Given the description of an element on the screen output the (x, y) to click on. 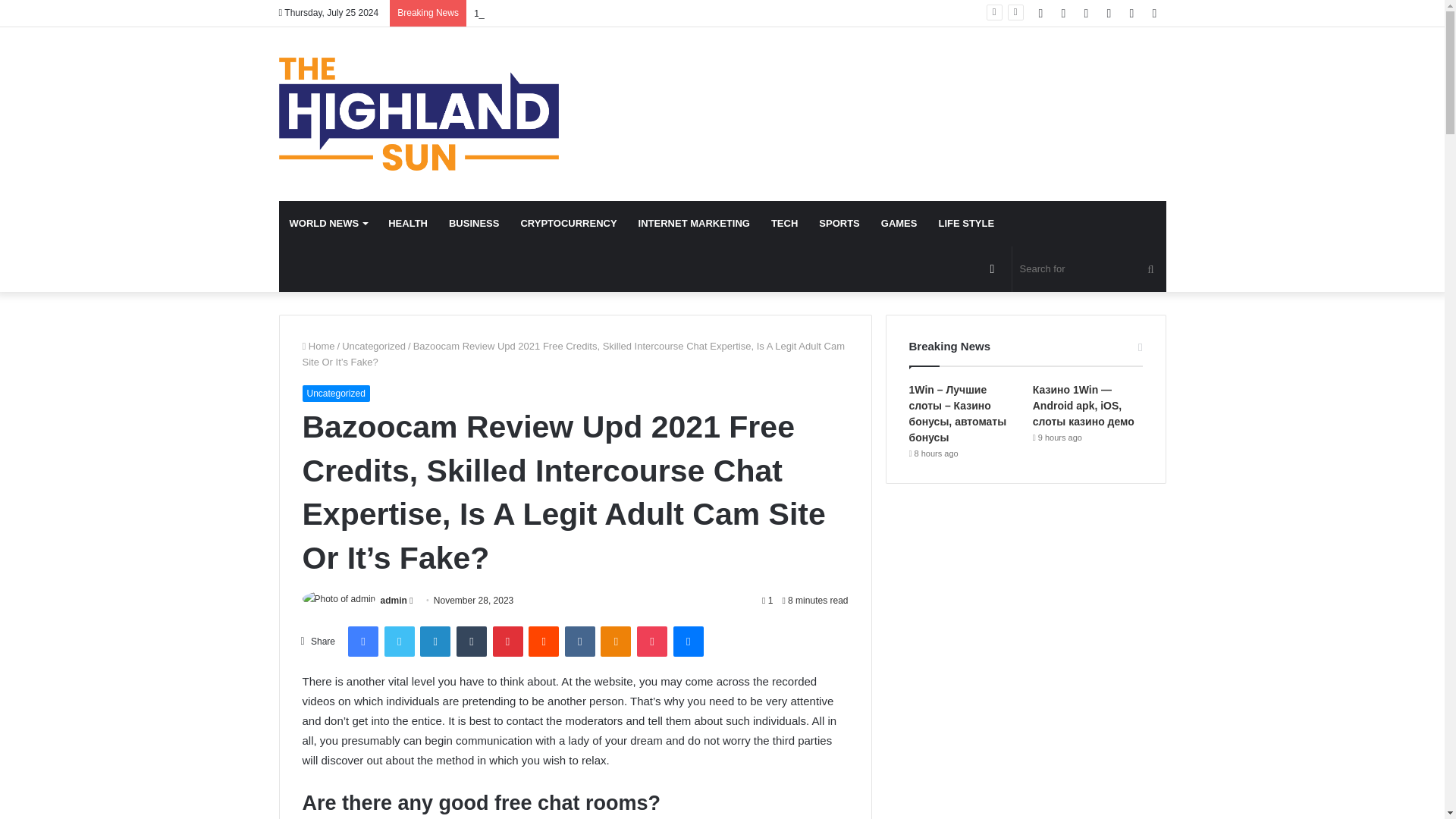
Tumblr (471, 641)
Log In (1109, 13)
Facebook (362, 641)
Reddit (543, 641)
Random Article (992, 268)
Tumblr (471, 641)
GAMES (899, 223)
Twitter (399, 641)
BUSINESS (473, 223)
Search for (1088, 268)
Search for (1150, 268)
Random Article (1131, 13)
Twitter (399, 641)
Twitter (1063, 13)
RSS (1086, 13)
